Given the description of an element on the screen output the (x, y) to click on. 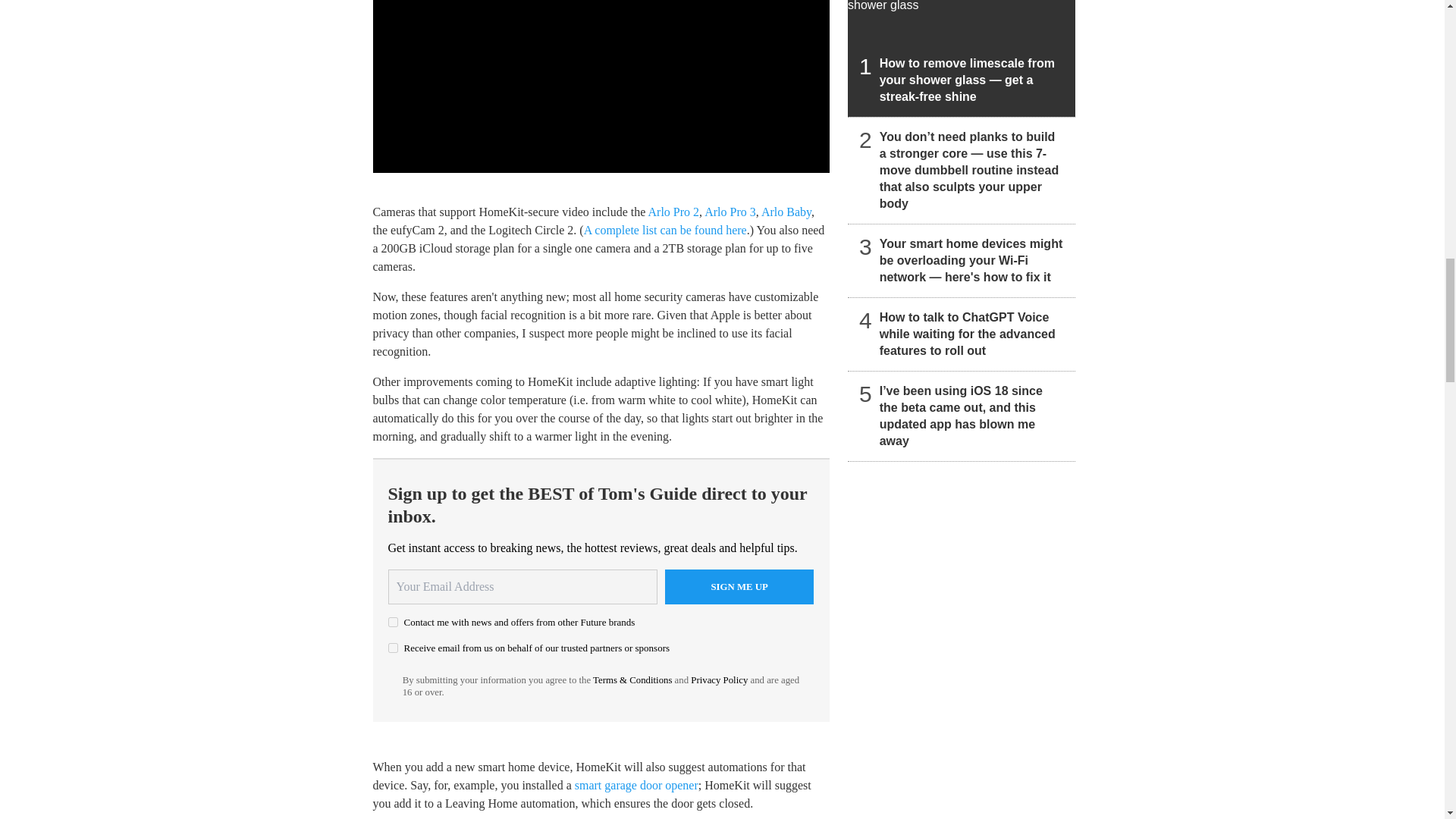
on (392, 622)
on (392, 647)
Sign me up (739, 586)
